Given the description of an element on the screen output the (x, y) to click on. 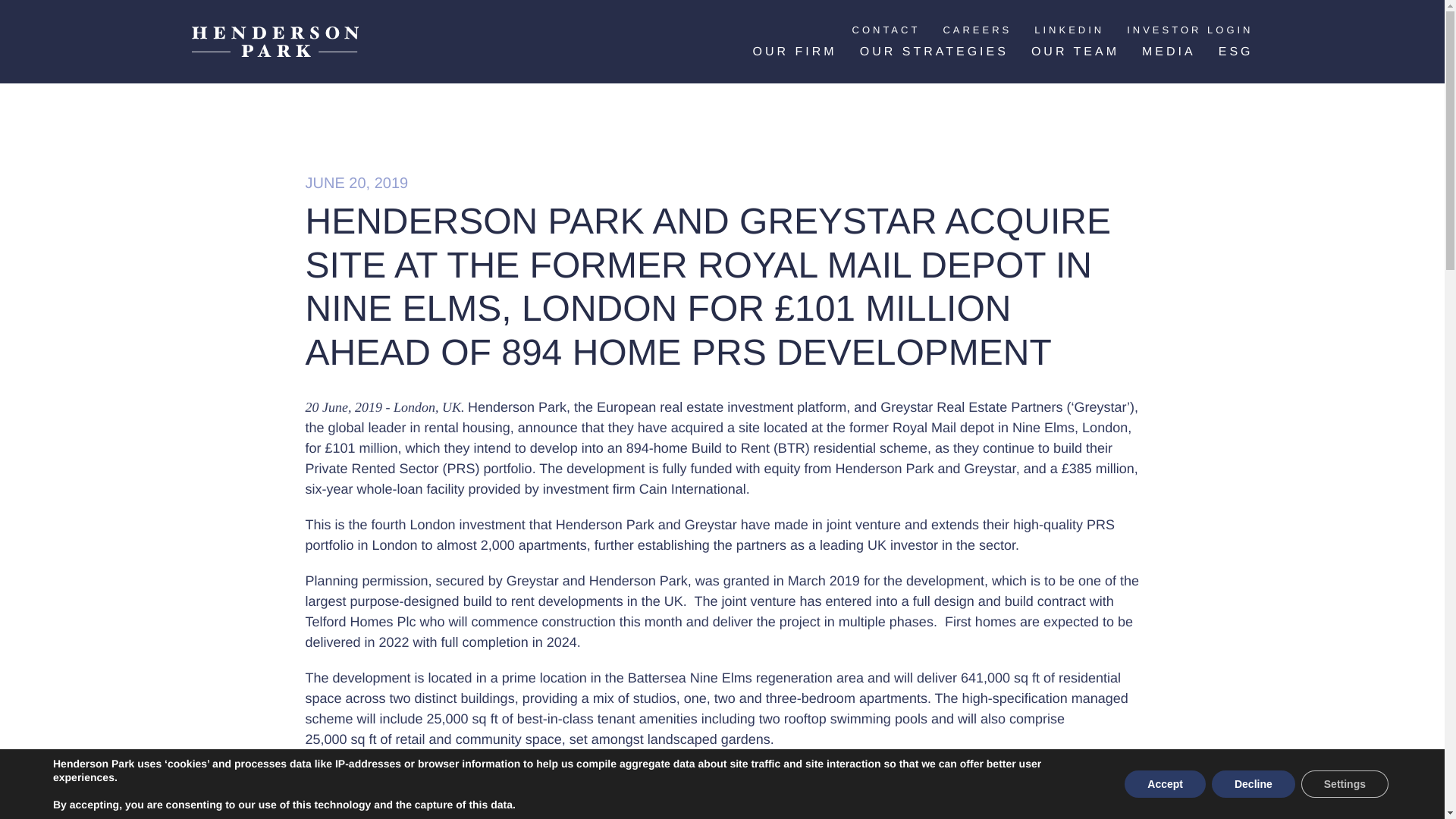
ESG (1235, 51)
Accept (1164, 783)
Decline (1253, 783)
OUR FIRM (794, 51)
INVESTOR LOGIN (1189, 30)
OUR STRATEGIES (934, 51)
LINKEDIN (1068, 30)
OUR TEAM (1074, 51)
MEDIA (1168, 51)
CONTACT (885, 30)
